Given the description of an element on the screen output the (x, y) to click on. 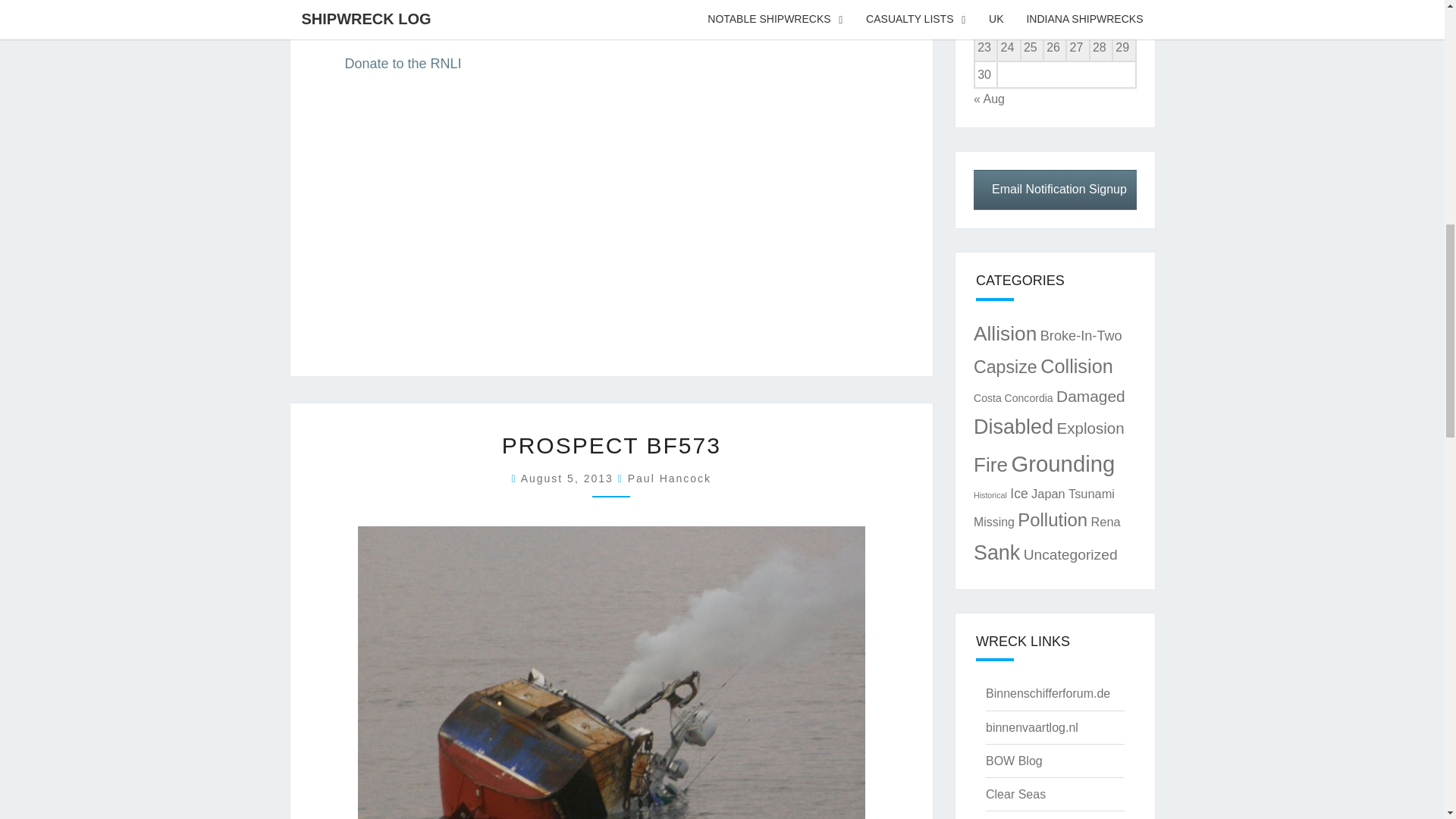
Paul Hancock (669, 478)
August 5, 2013 (569, 478)
Grutness (370, 19)
Grutness (370, 19)
Donate to the RNLI  (403, 63)
View all posts by Paul Hancock (669, 478)
5:17 pm (569, 478)
PROSPECT BF573 (611, 445)
